Given the description of an element on the screen output the (x, y) to click on. 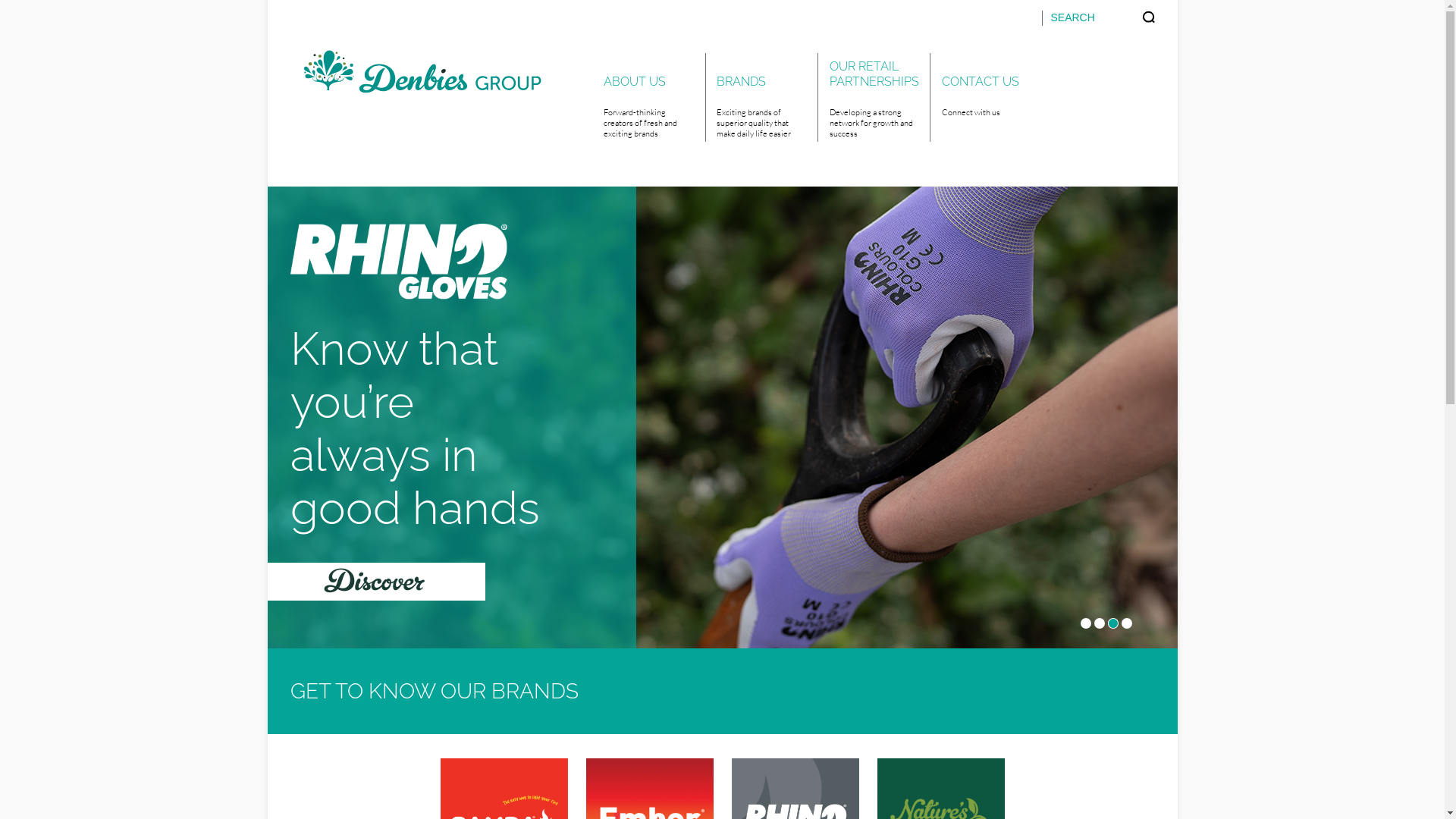
CONTACT US Element type: text (985, 73)
ABOUT US Element type: text (649, 73)
discover more Element type: text (375, 581)
BRANDS Element type: text (761, 73)
OUR RETAIL PARTNERSHIPS Element type: text (873, 73)
Rhino Logo White Element type: hover (397, 261)
